Given the description of an element on the screen output the (x, y) to click on. 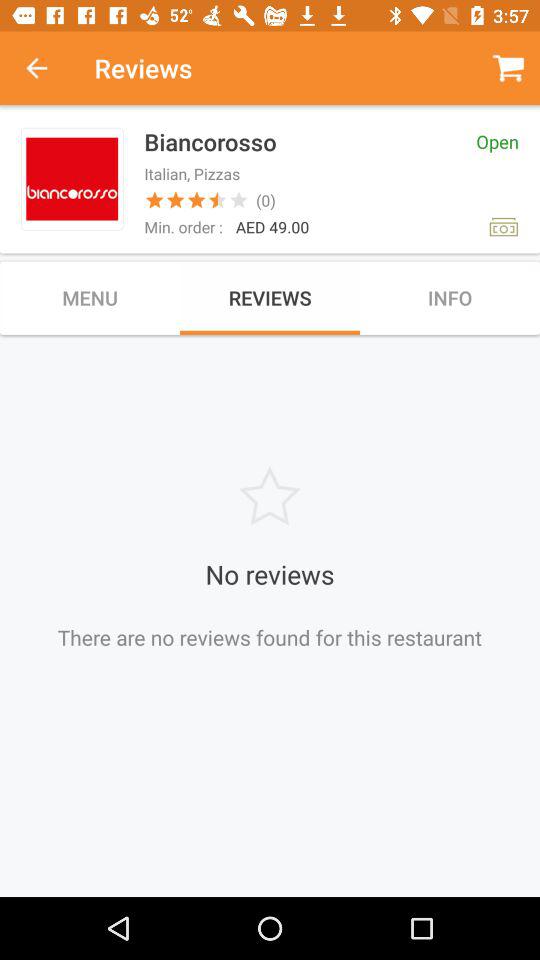
go back (47, 68)
